Given the description of an element on the screen output the (x, y) to click on. 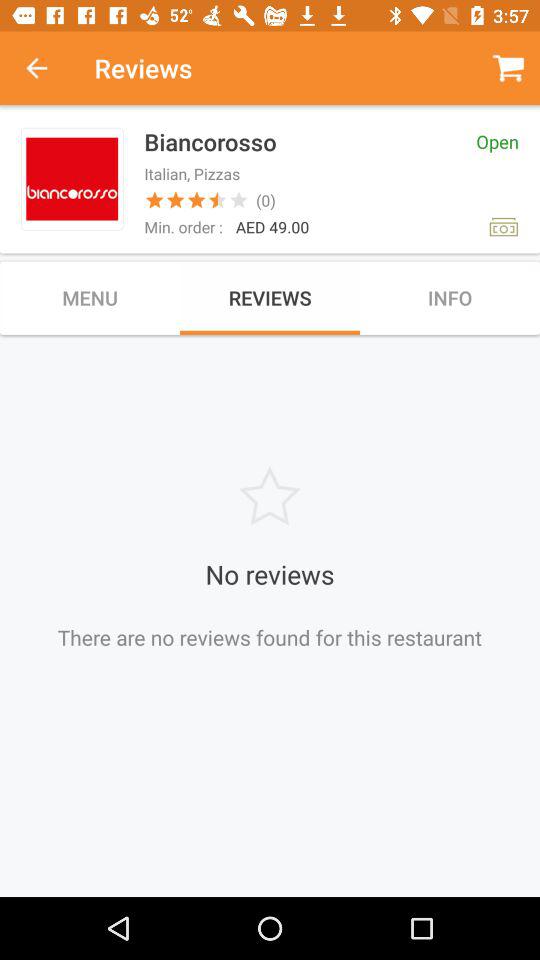
go back (47, 68)
